Given the description of an element on the screen output the (x, y) to click on. 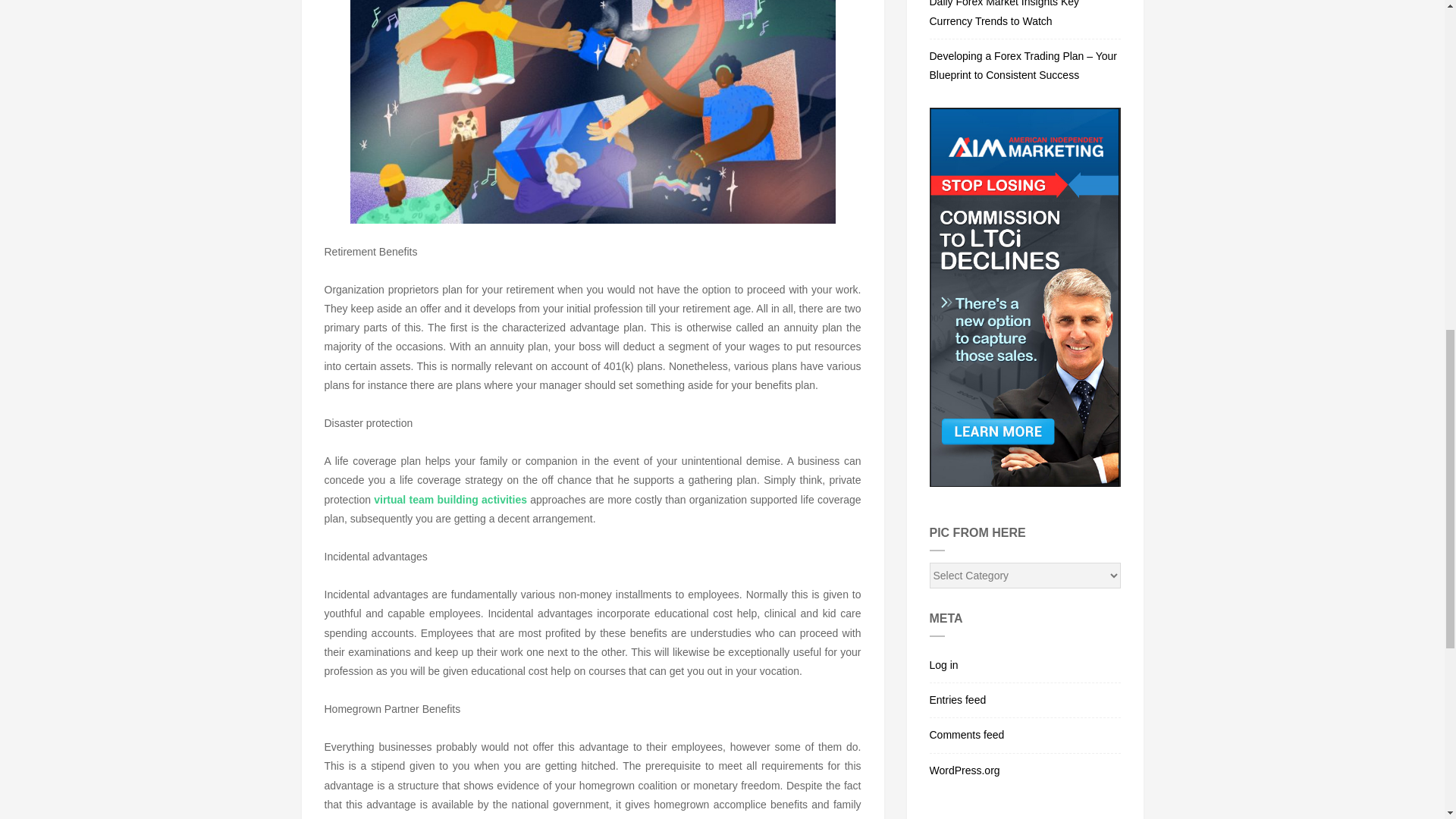
Daily Forex Market Insights Key Currency Trends to Watch (1025, 19)
Entries feed (1025, 700)
Comments feed (1025, 735)
WordPress.org (1025, 766)
virtual team building activities (450, 499)
Log in (1025, 665)
